Given the description of an element on the screen output the (x, y) to click on. 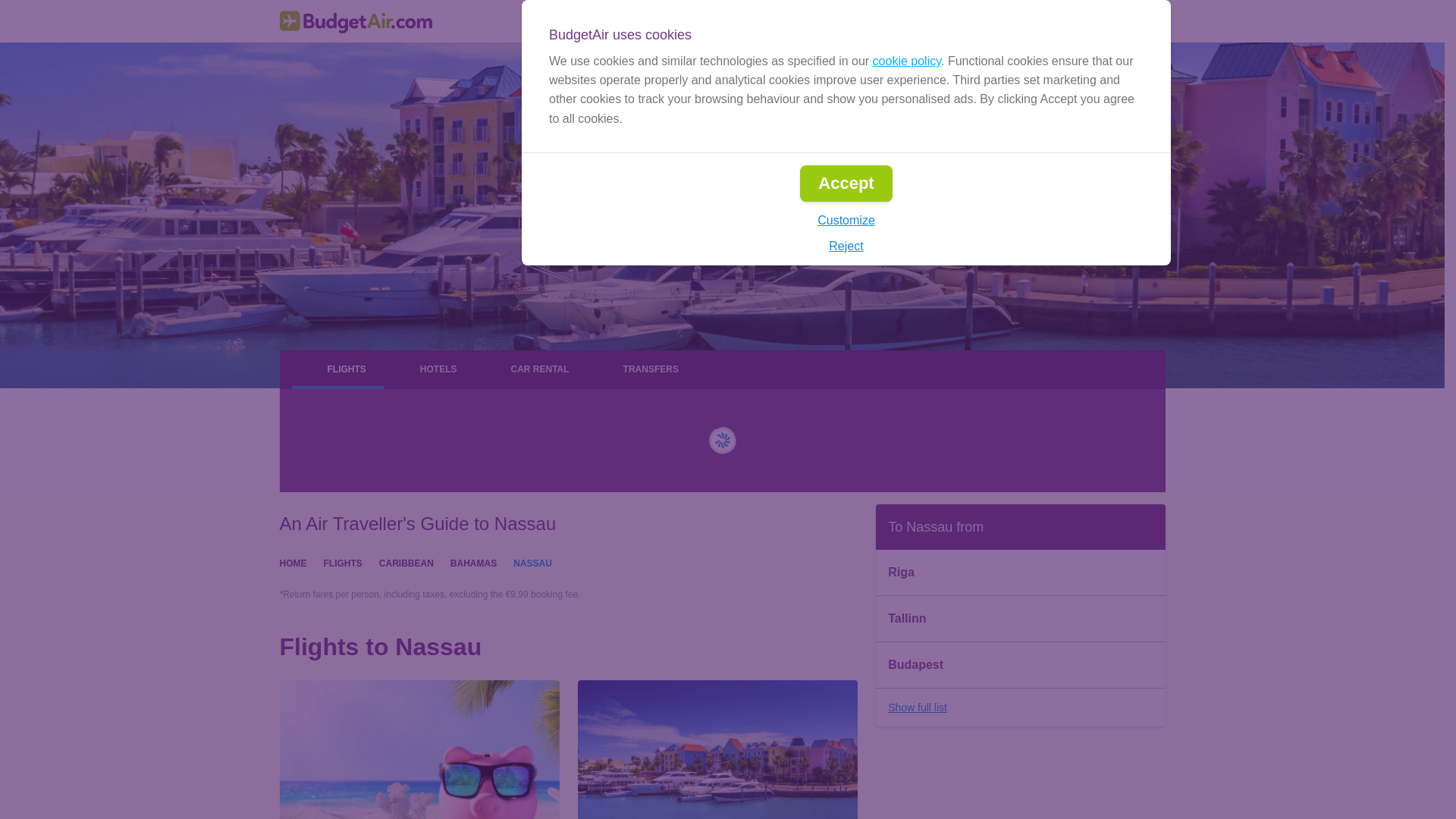
My Account (1116, 21)
BAHAMAS (472, 562)
English (902, 21)
HOME (292, 562)
Accept (845, 183)
FLIGHTS (342, 562)
CARIBBEAN (405, 562)
cookie policy (906, 60)
